Given the description of an element on the screen output the (x, y) to click on. 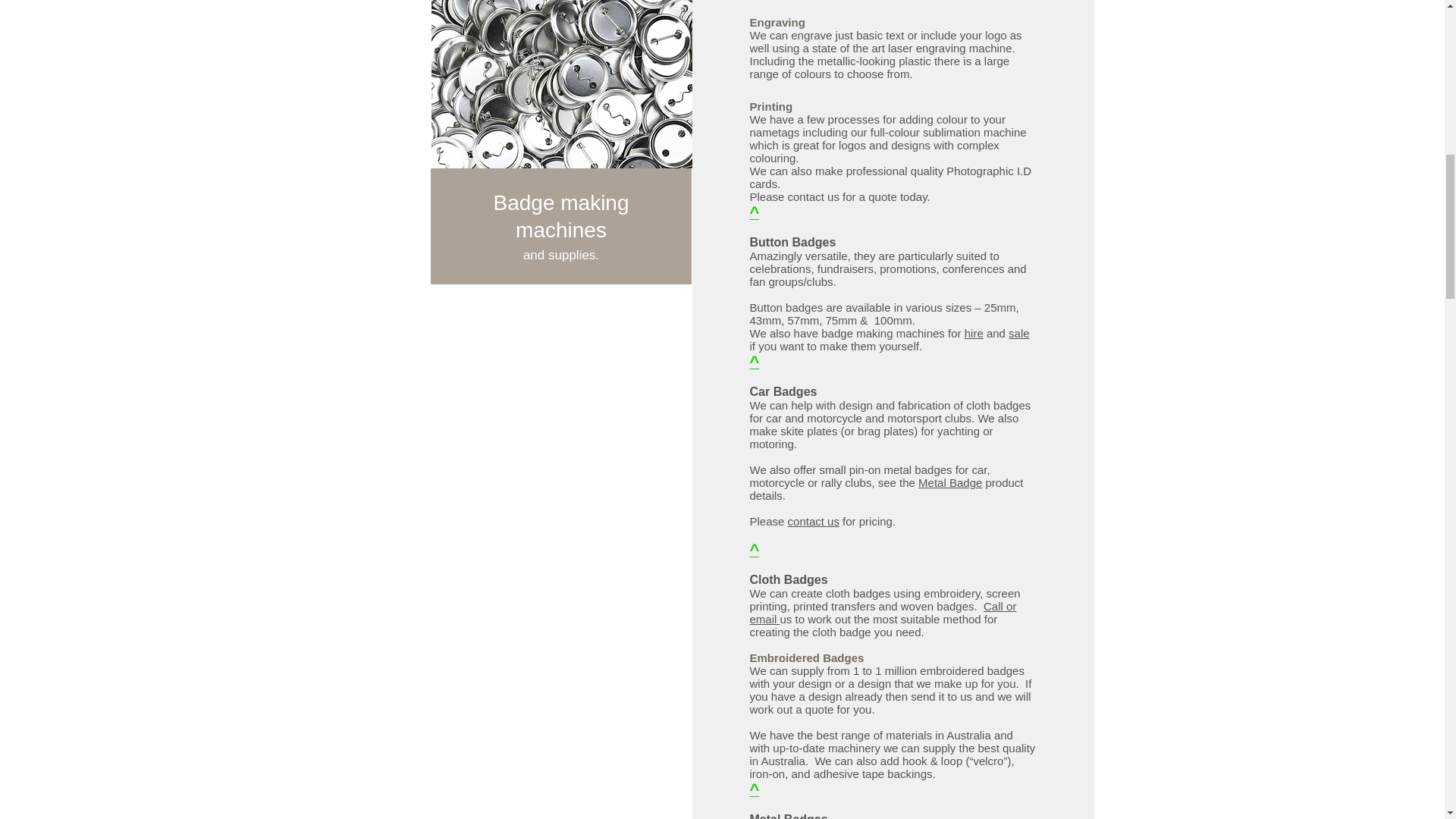
contact us (813, 521)
hire (973, 332)
Call or email (882, 612)
sale (1019, 332)
Metal Badge (949, 481)
